Given the description of an element on the screen output the (x, y) to click on. 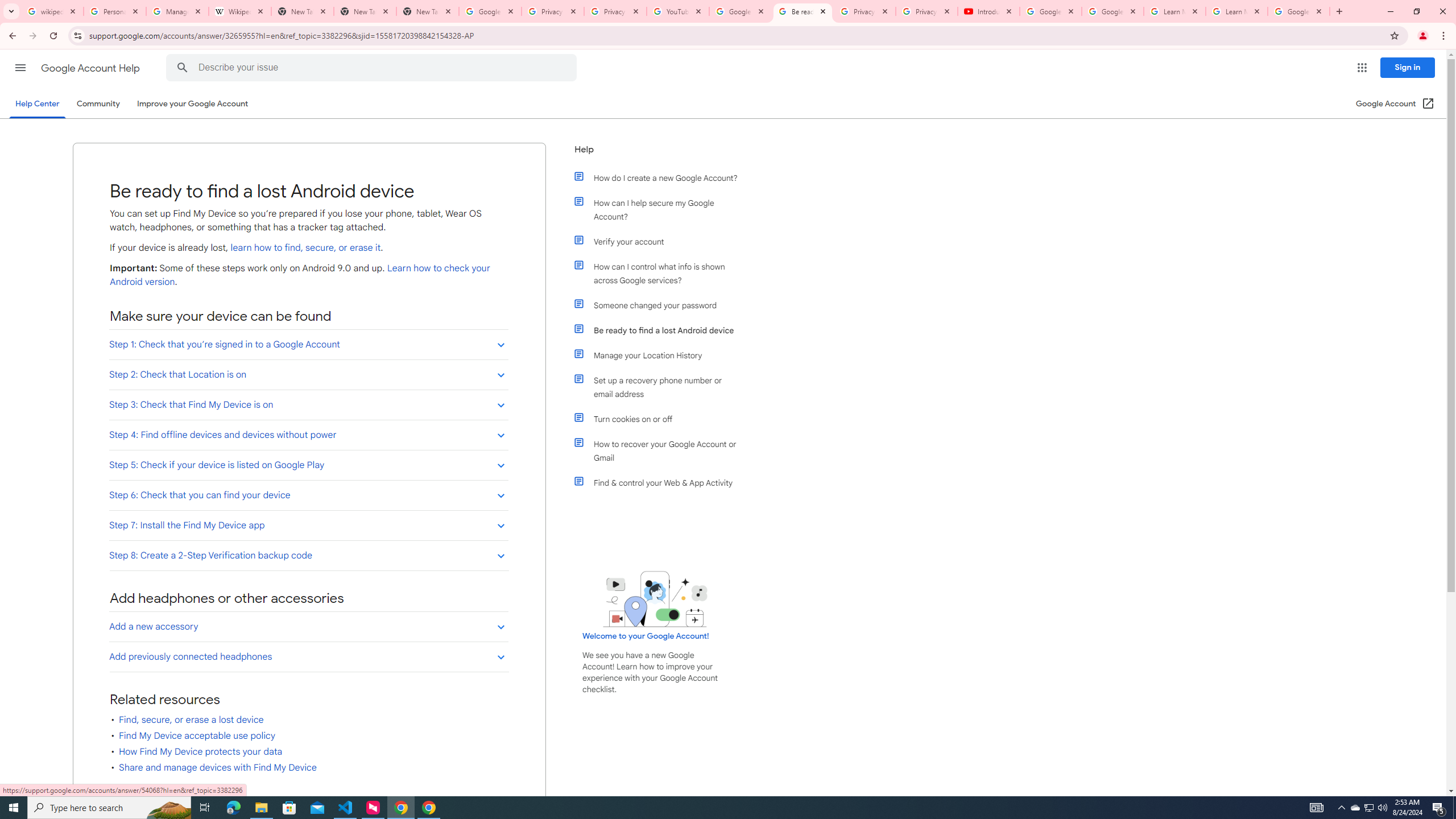
Sign in (1407, 67)
Step 4: Find offline devices and devices without power (308, 434)
Google Account Help (740, 11)
Help Center (36, 103)
Google apps (1362, 67)
Google Account Help (91, 68)
Learn how to check your Android version (299, 274)
Address and search bar (735, 35)
